Given the description of an element on the screen output the (x, y) to click on. 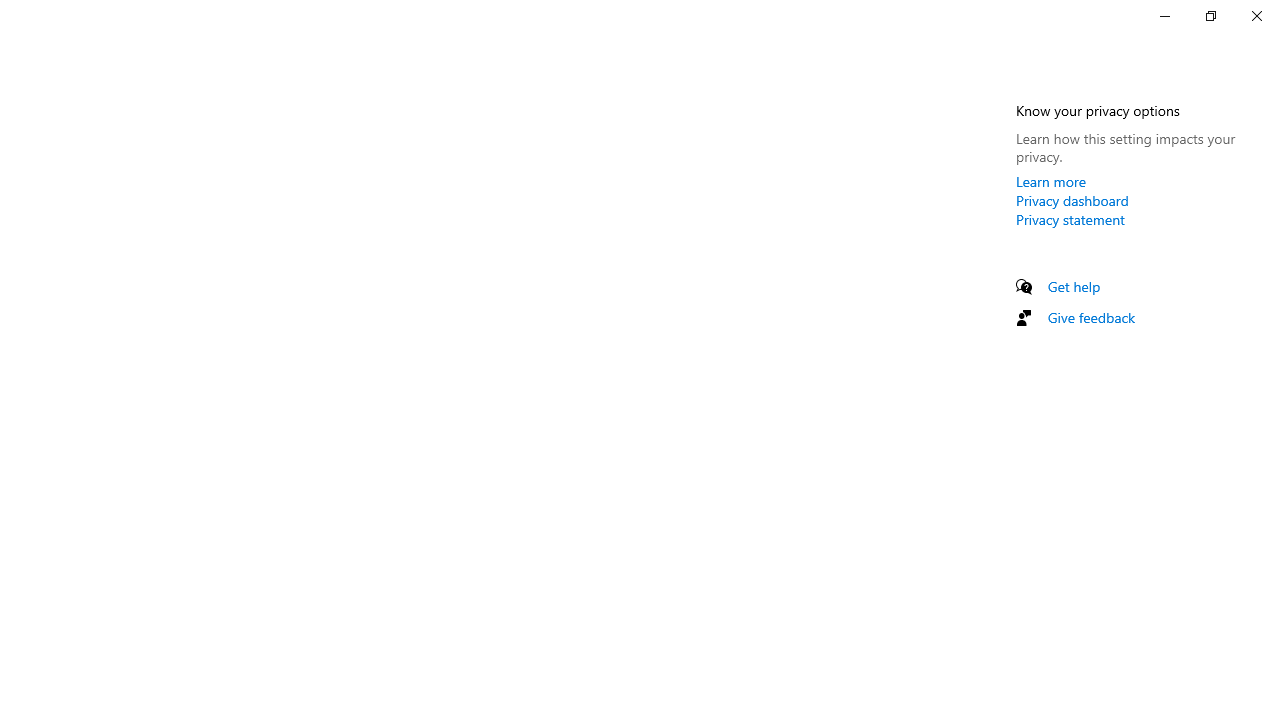
Privacy dashboard (1072, 200)
Privacy statement (1070, 219)
Give feedback (1091, 317)
Learn more (1051, 181)
